Given the description of an element on the screen output the (x, y) to click on. 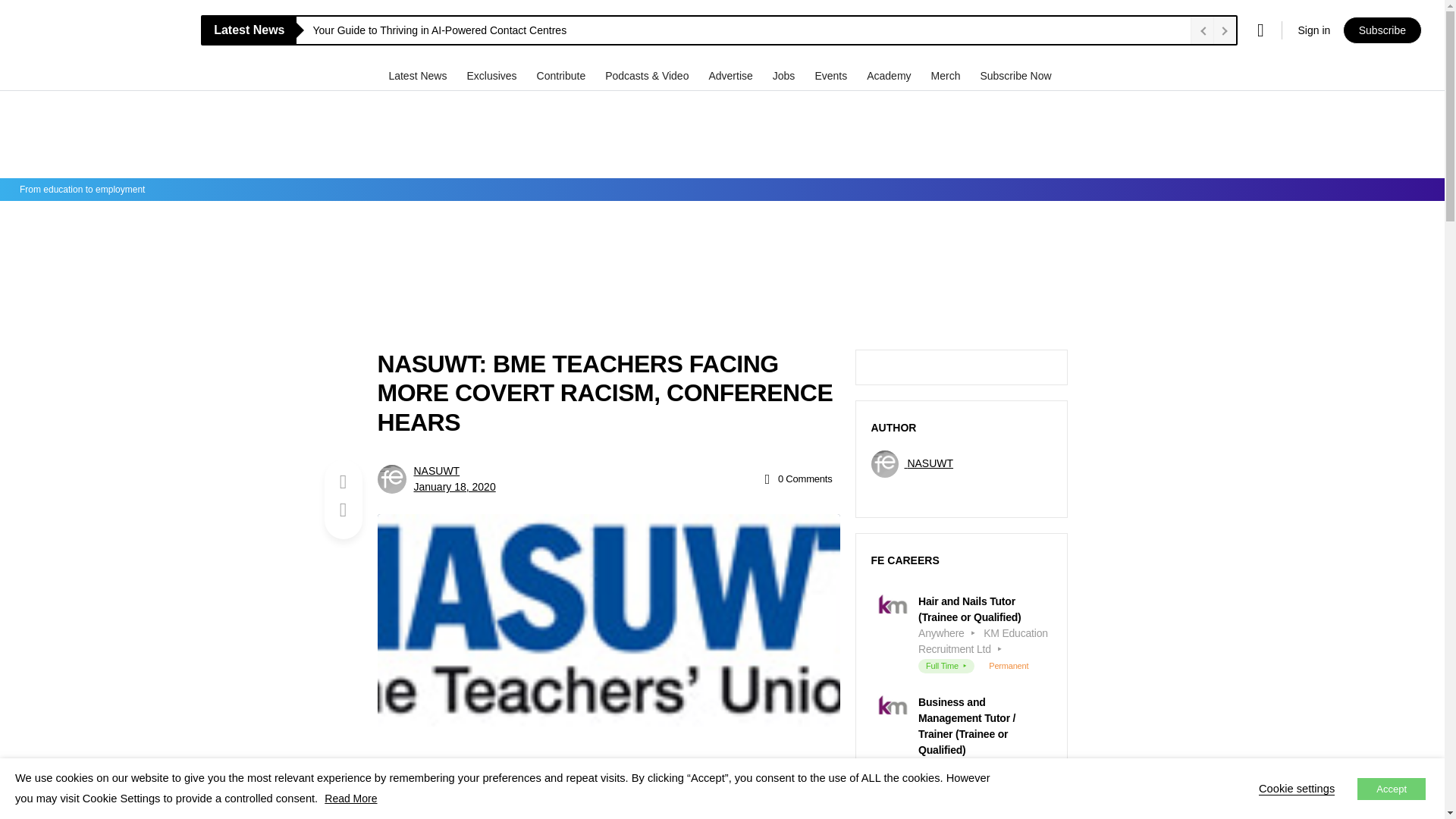
Exclusives (493, 75)
Latest News (419, 75)
Subscribe (1382, 30)
Your Guide to Thriving in AI-Powered Contact Centres (747, 30)
Sign in (1313, 30)
